Given the description of an element on the screen output the (x, y) to click on. 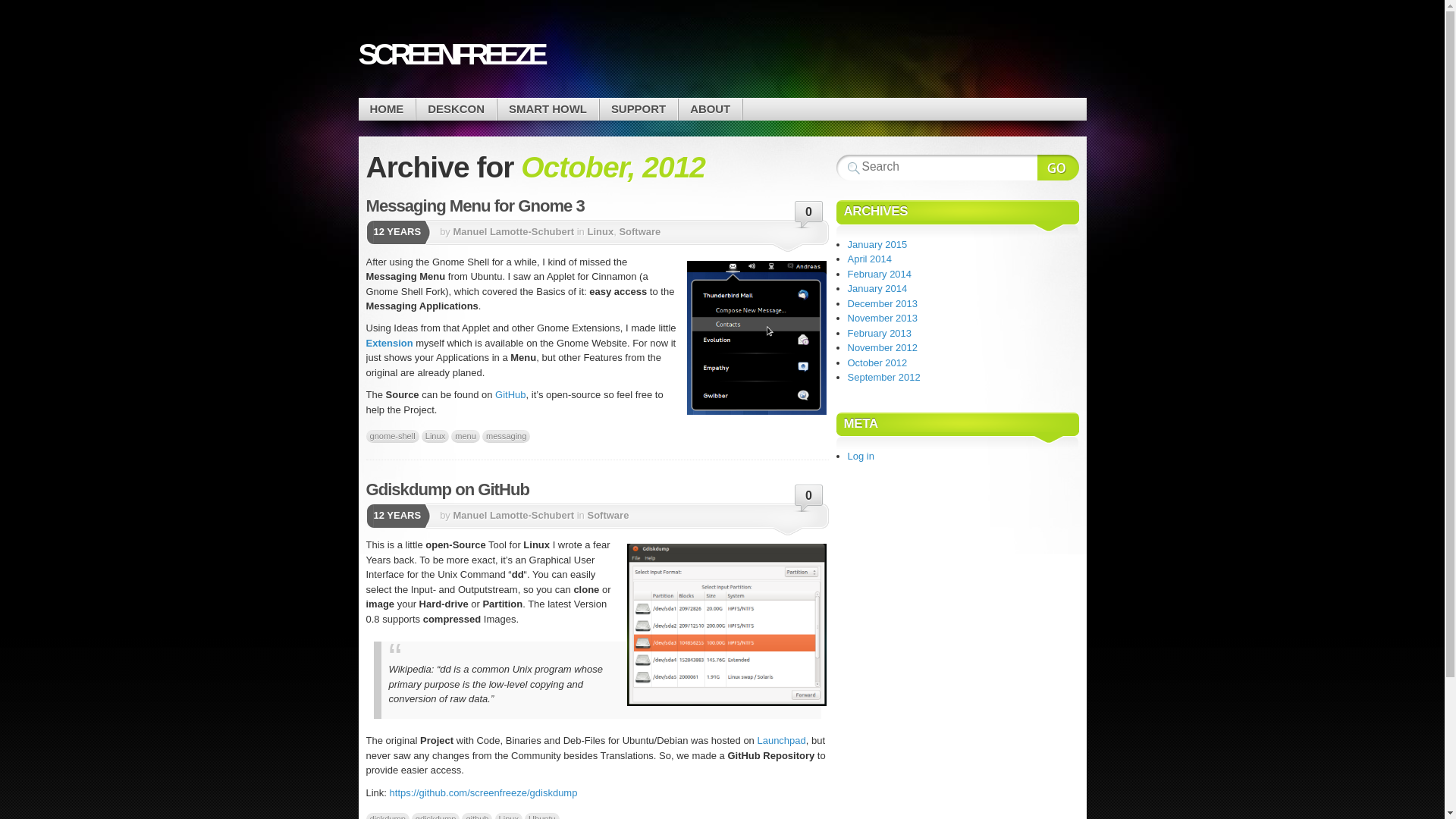
Messaging Menu for Gnome 3 (474, 205)
diskdump (387, 816)
Posts by Manuel Lamotte-Schubert (512, 514)
Posts by Manuel Lamotte-Schubert (512, 231)
SMART HOWL (547, 109)
0 (809, 215)
Manuel Lamotte-Schubert (512, 231)
gdiskdump (436, 816)
Search Website (1057, 167)
Linux (599, 231)
